Given the description of an element on the screen output the (x, y) to click on. 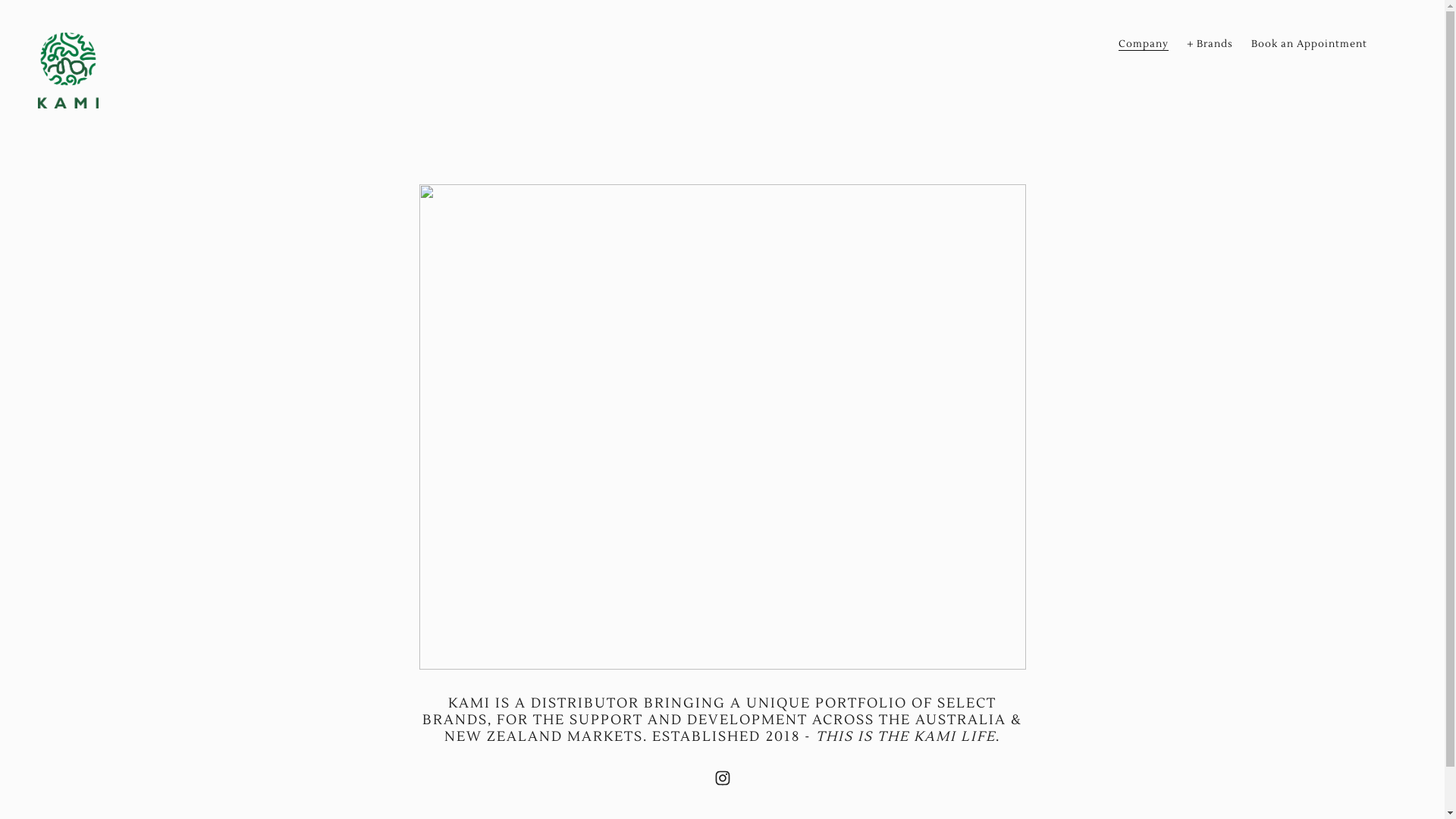
Brands Element type: text (1209, 43)
Book an Appointment Element type: text (1309, 43)
Company Element type: text (1143, 43)
